Given the description of an element on the screen output the (x, y) to click on. 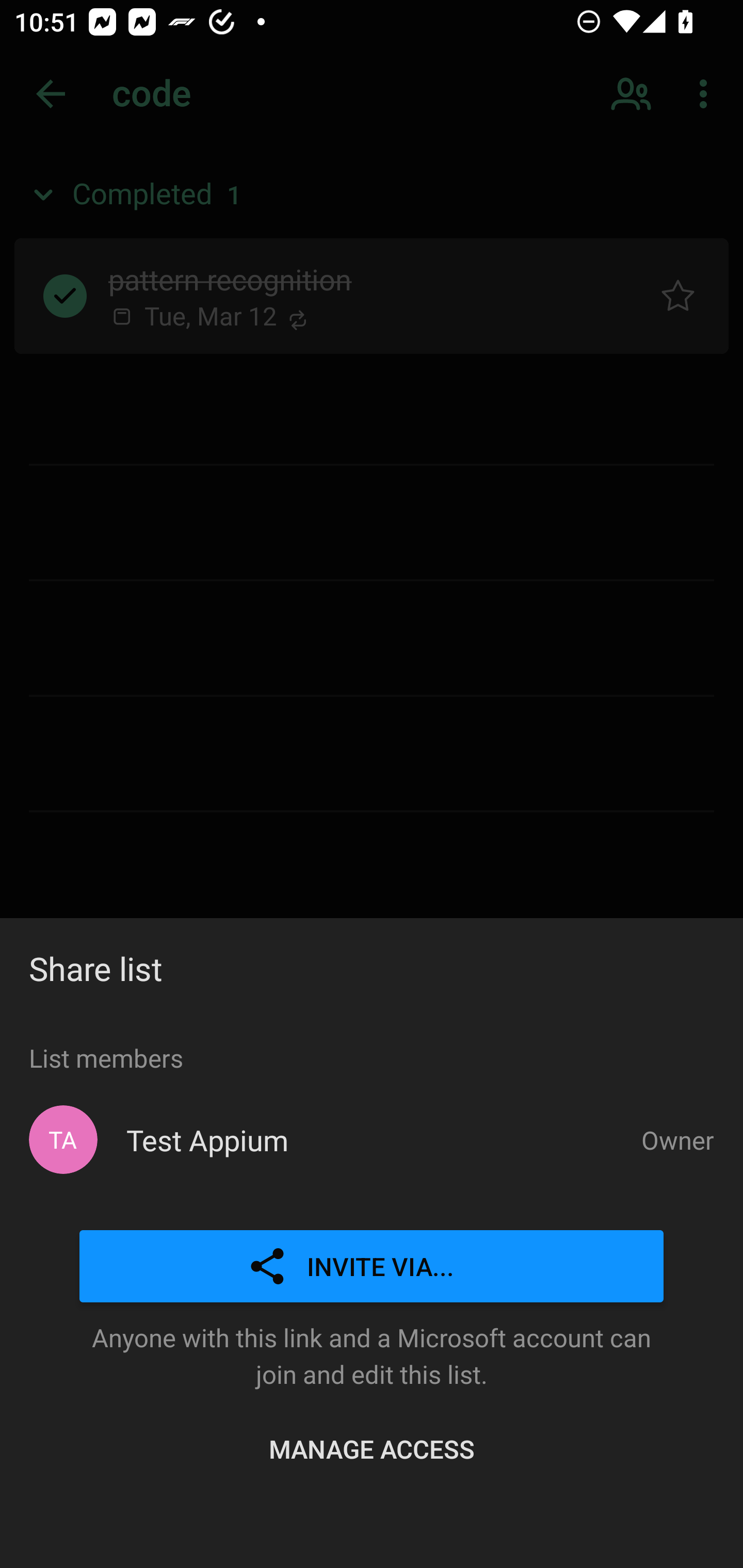
INVITE VIA... (371, 1266)
MANAGE ACCESS (371, 1448)
